Given the description of an element on the screen output the (x, y) to click on. 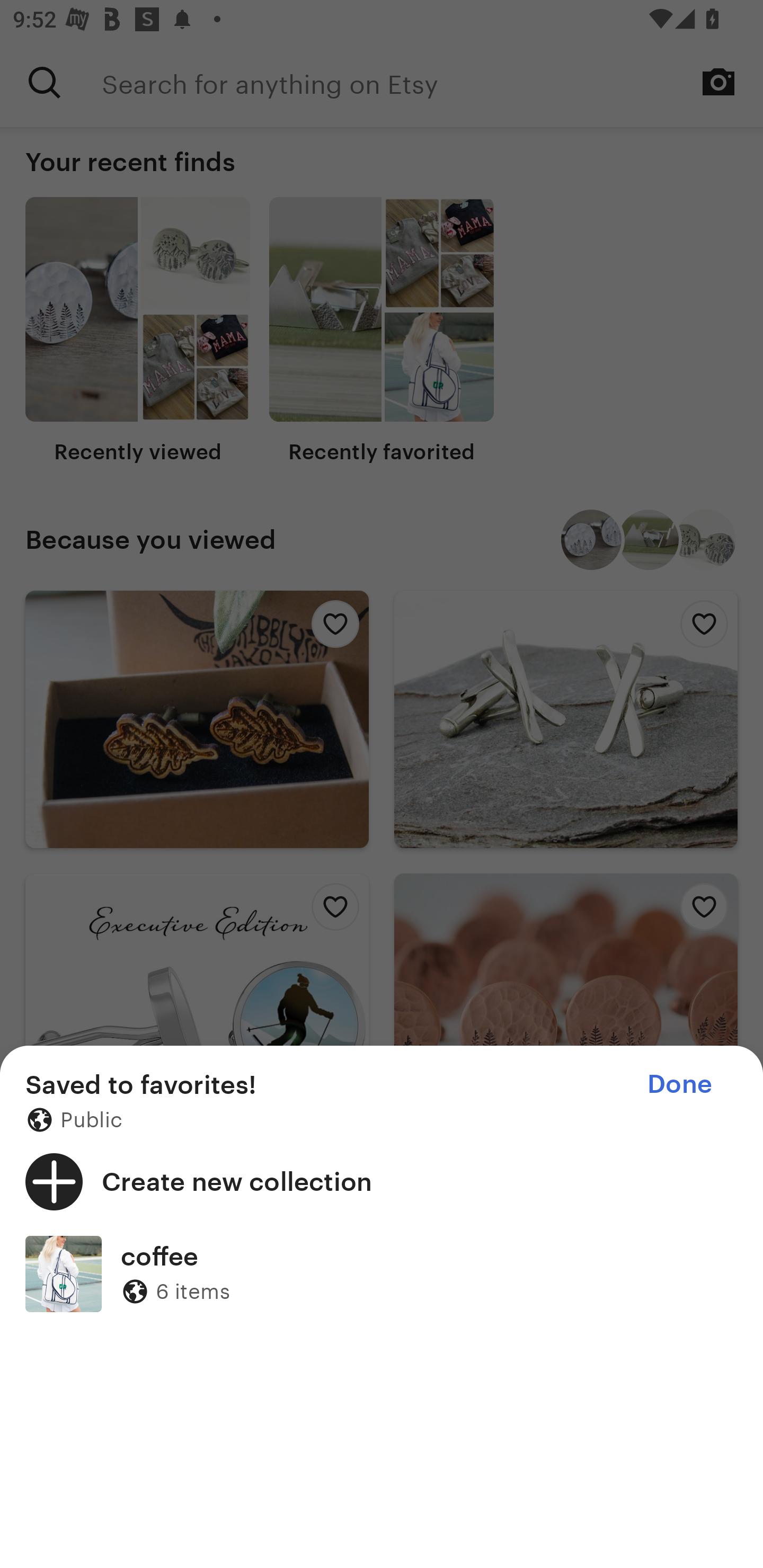
Done (679, 1083)
Create new collection (381, 1181)
coffee 6 items (381, 1273)
